Given the description of an element on the screen output the (x, y) to click on. 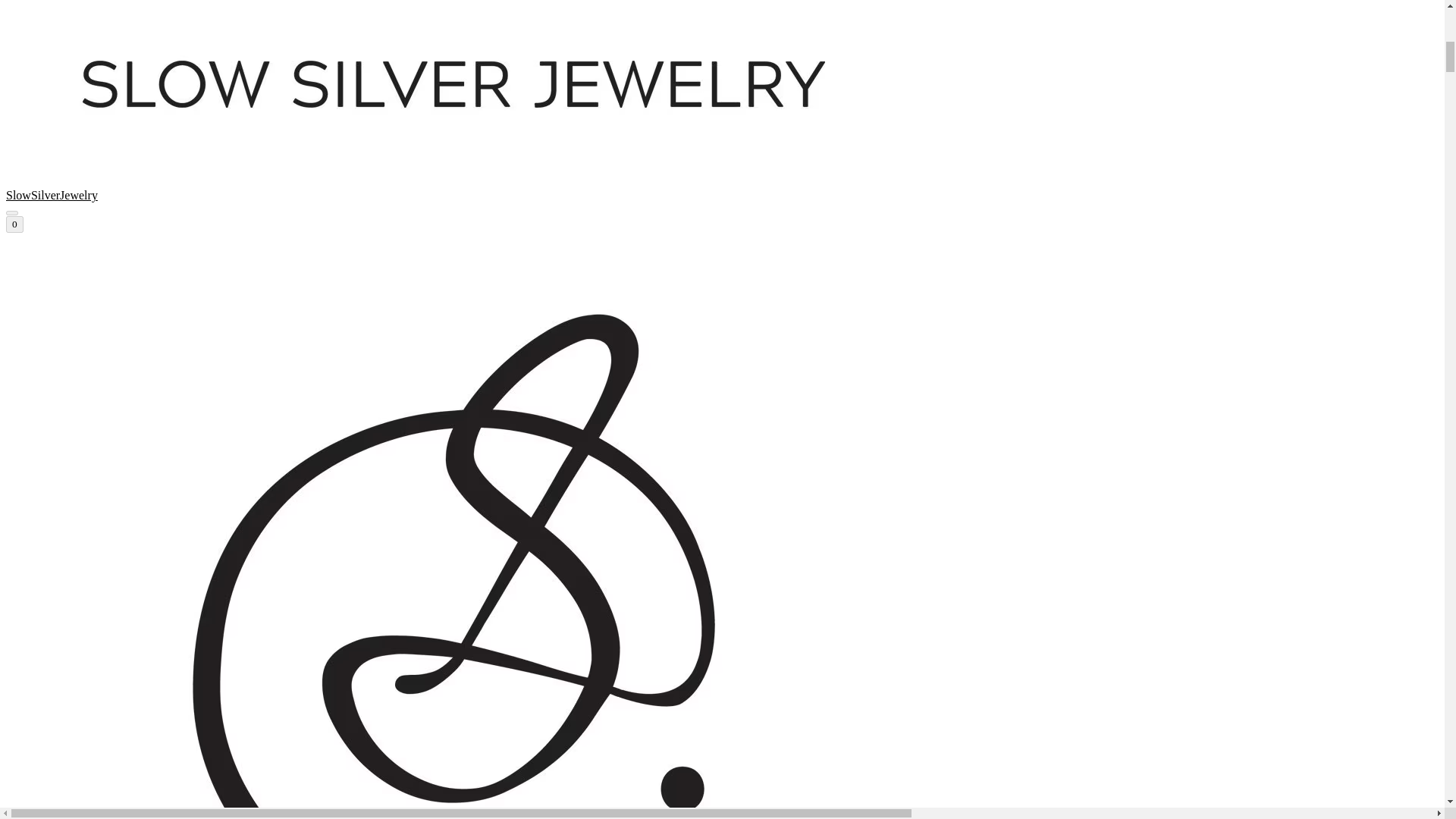
0 (14, 224)
